Given the description of an element on the screen output the (x, y) to click on. 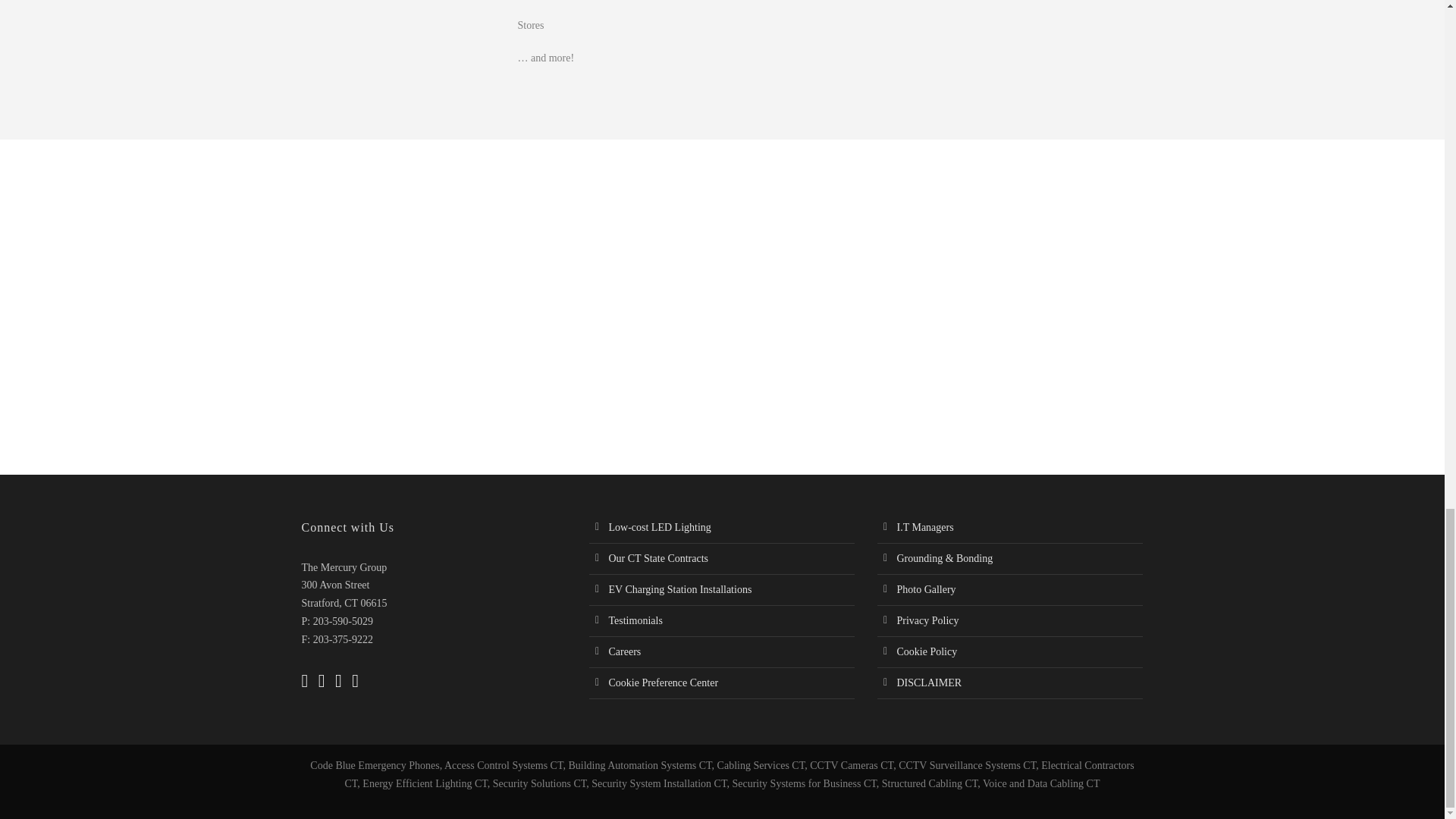
I.T Managers (924, 527)
Privacy Policy (927, 620)
Cookie Preference Center (662, 682)
Careers (624, 651)
Photo Gallery (925, 589)
EV Charging Station Installations (679, 589)
Our CT State Contracts (657, 558)
Low-cost LED Lighting (659, 527)
DISCLAIMER (928, 682)
Cookie Policy (926, 651)
